Given the description of an element on the screen output the (x, y) to click on. 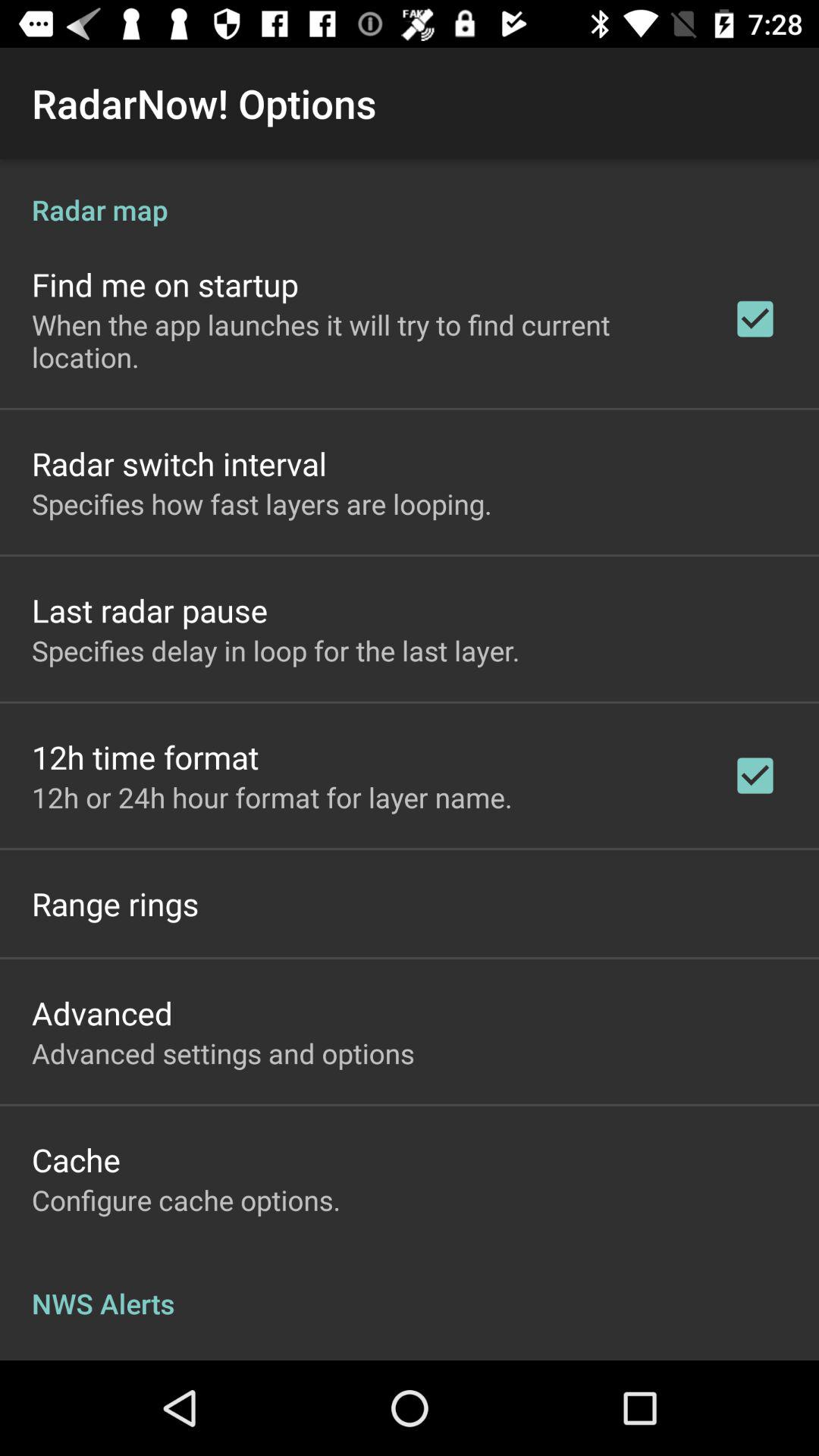
turn off icon below the find me on app (361, 340)
